Given the description of an element on the screen output the (x, y) to click on. 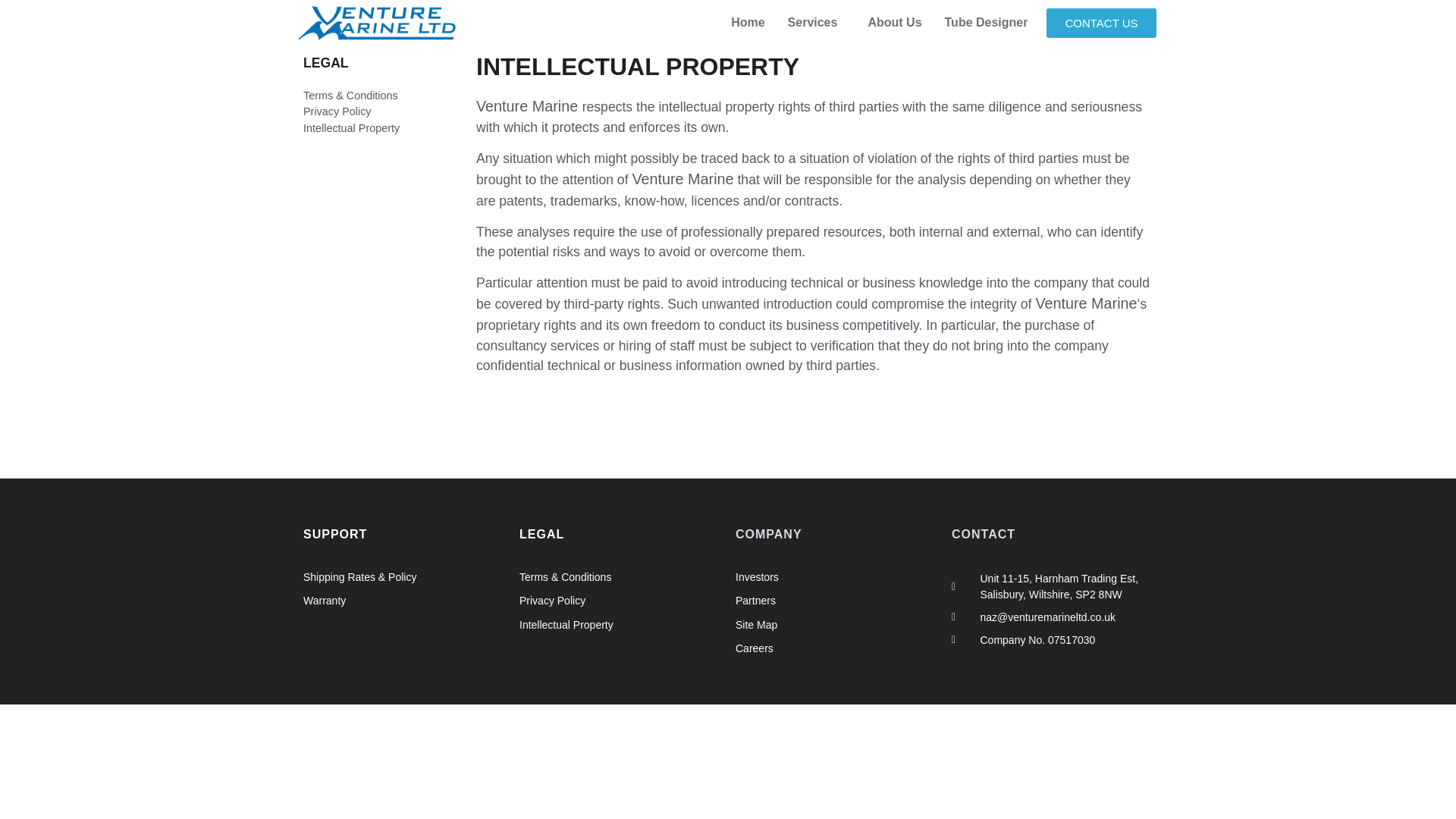
Home (747, 22)
About Us (894, 22)
Careers (835, 648)
Partners (835, 600)
Site Map (835, 624)
Investors (835, 577)
Privacy Policy (619, 600)
Intellectual Property (381, 128)
Services (816, 22)
Warranty (402, 600)
